Given the description of an element on the screen output the (x, y) to click on. 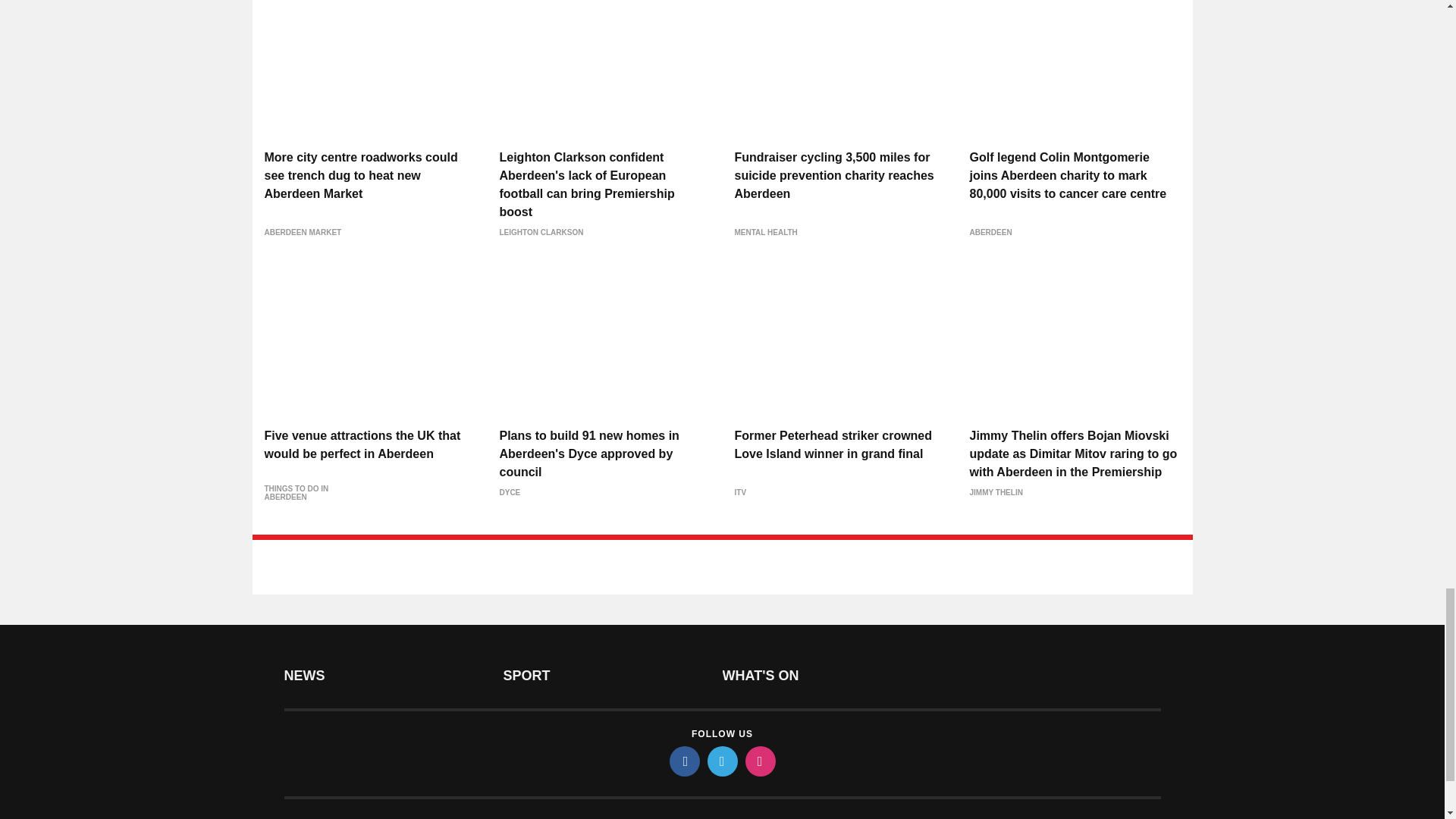
twitter (721, 761)
instagram (759, 761)
facebook (683, 761)
